Given the description of an element on the screen output the (x, y) to click on. 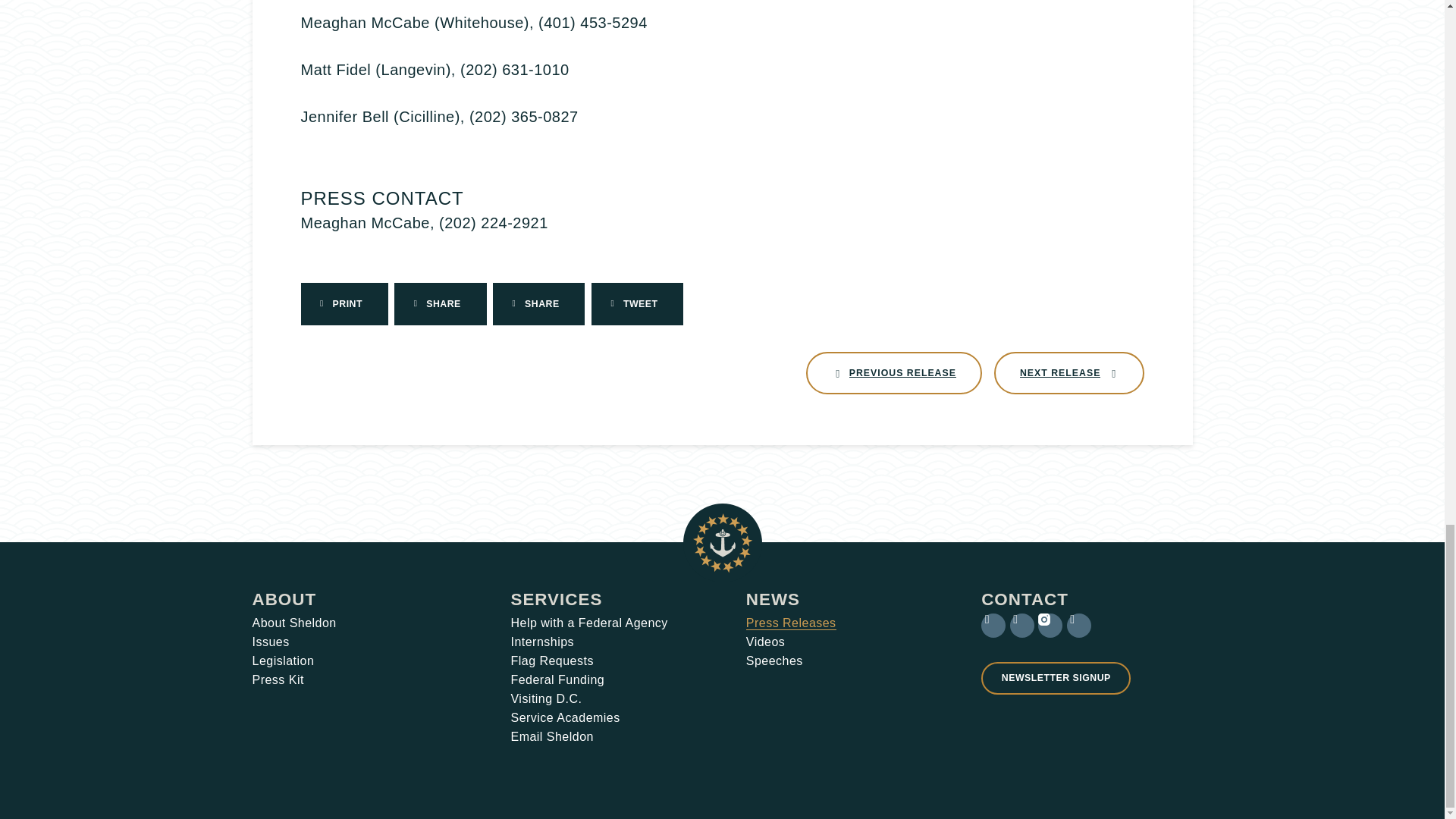
ABOUT (283, 599)
About Sheldon (1069, 372)
Issues (293, 622)
